Given the description of an element on the screen output the (x, y) to click on. 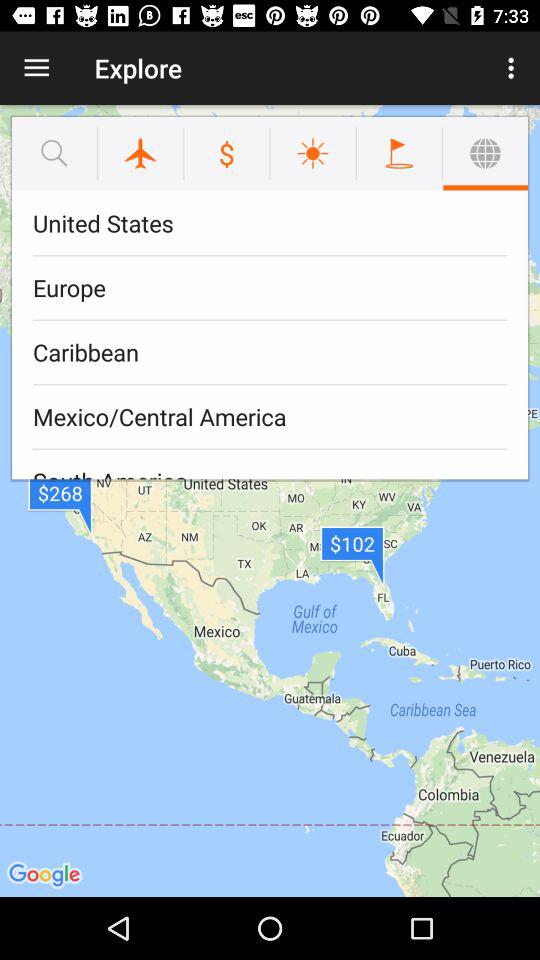
open europe (270, 287)
